Given the description of an element on the screen output the (x, y) to click on. 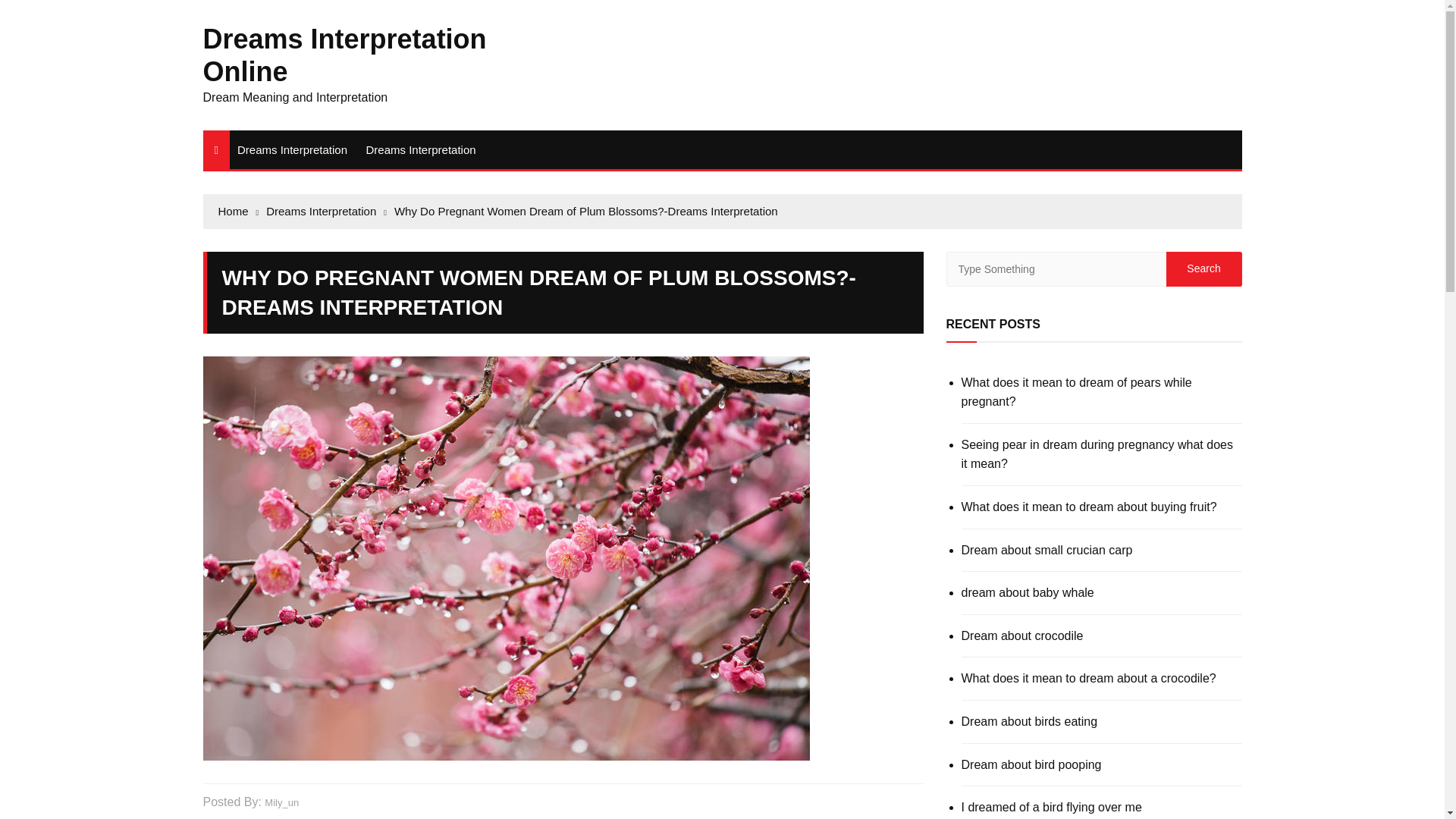
Search (1203, 268)
Dreams Interpretation (292, 149)
Dreams Interpretation (420, 149)
Dreams Interpretation Online (344, 54)
